Given the description of an element on the screen output the (x, y) to click on. 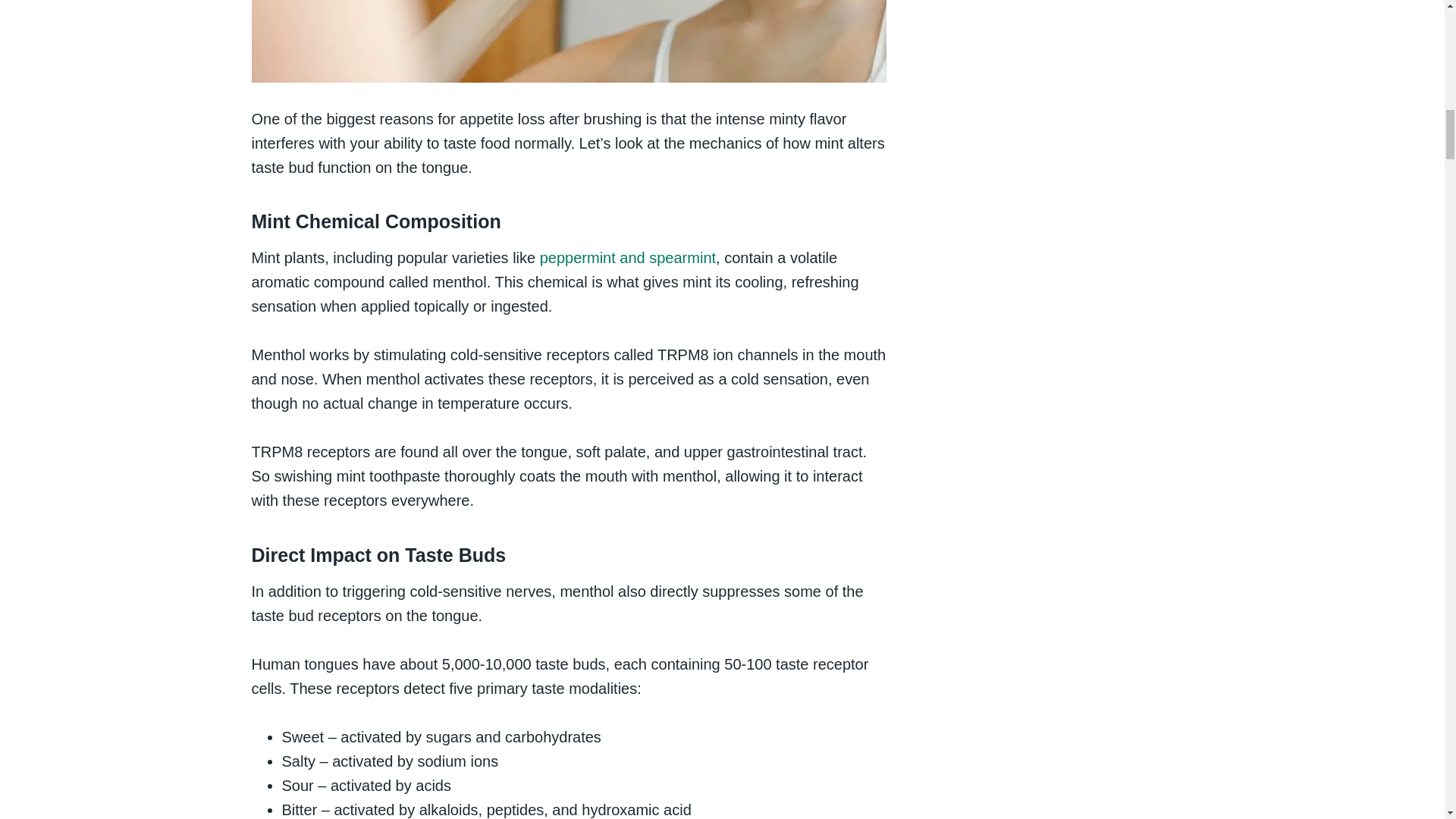
peppermint and spearmint (628, 257)
